Given the description of an element on the screen output the (x, y) to click on. 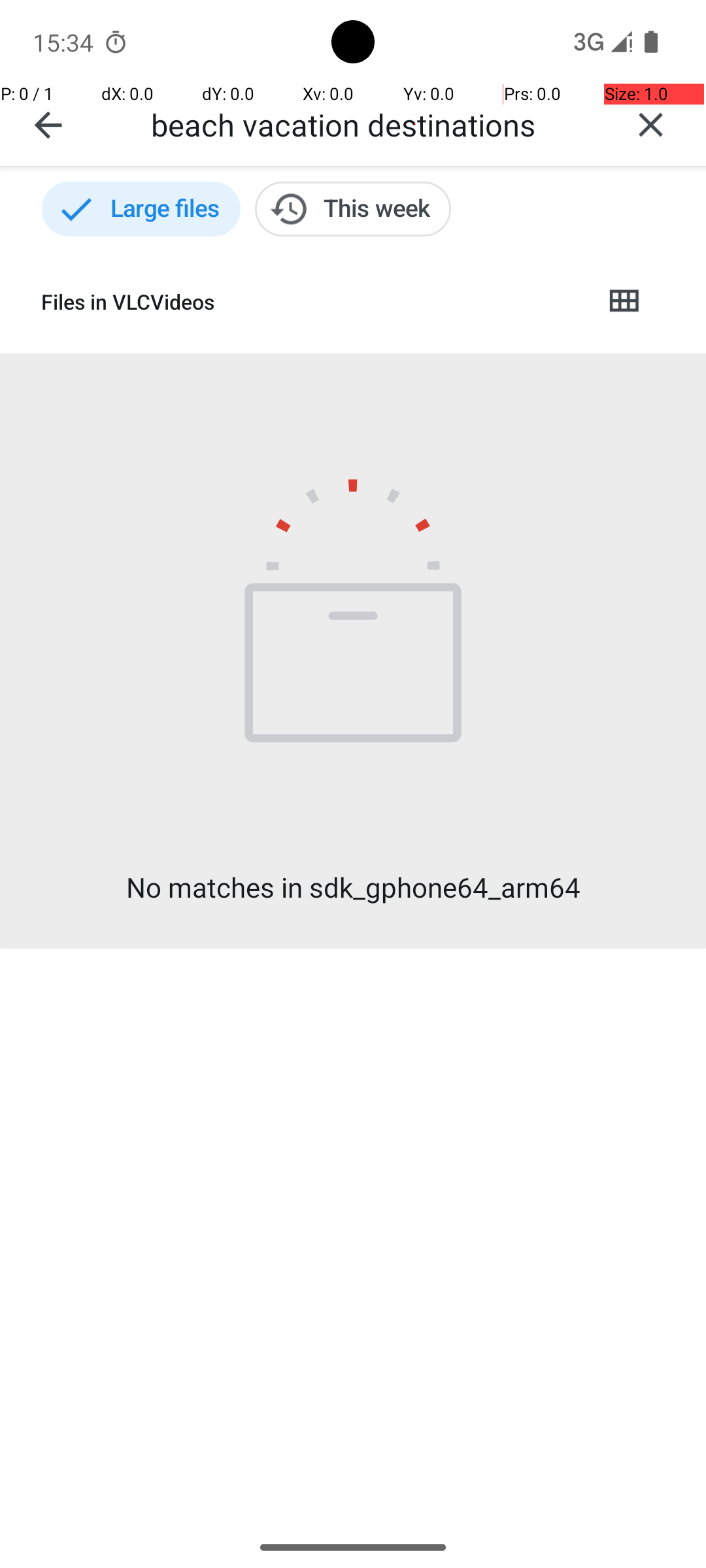
Files in VLCVideos Element type: android.widget.TextView (311, 301)
beach vacation destinations Element type: android.widget.AutoCompleteTextView (373, 124)
No matches in sdk_gphone64_arm64 Element type: android.widget.TextView (353, 886)
